Given the description of an element on the screen output the (x, y) to click on. 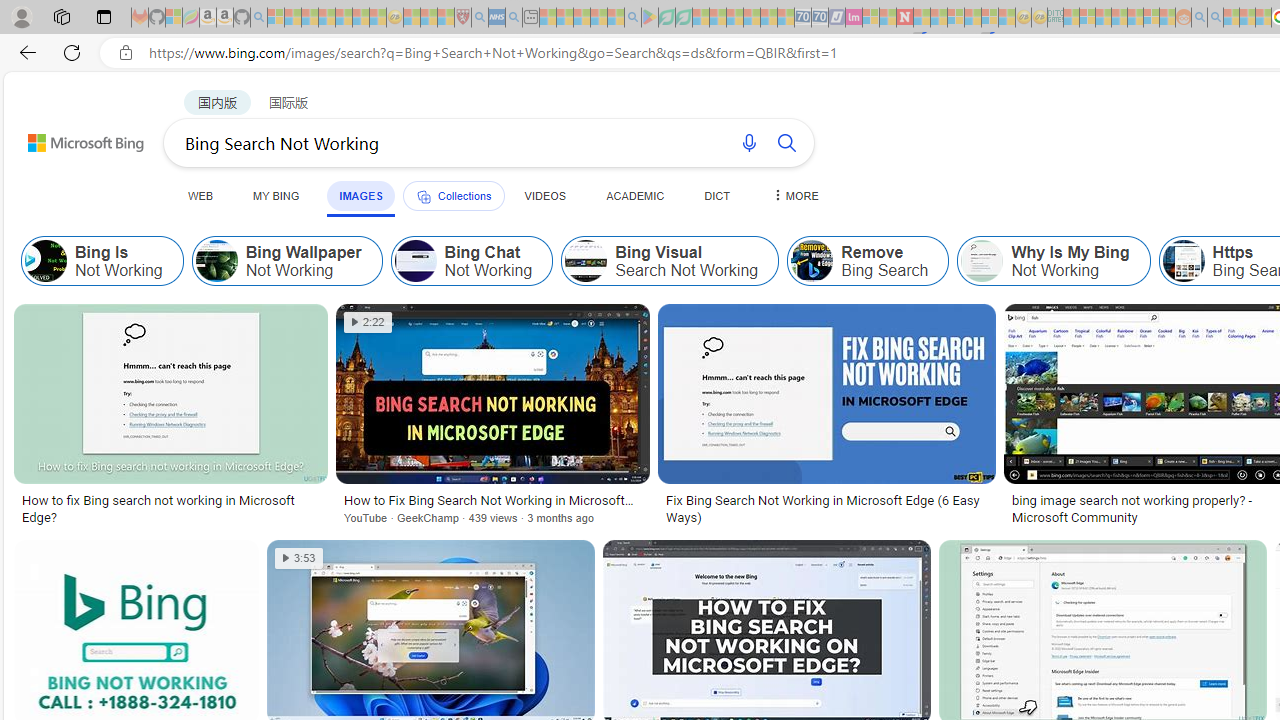
Why Is My Bing Not Working (982, 260)
Fix Bing Search Not Working in Microsoft Edge (6 Easy Ways) (826, 508)
